Given the description of an element on the screen output the (x, y) to click on. 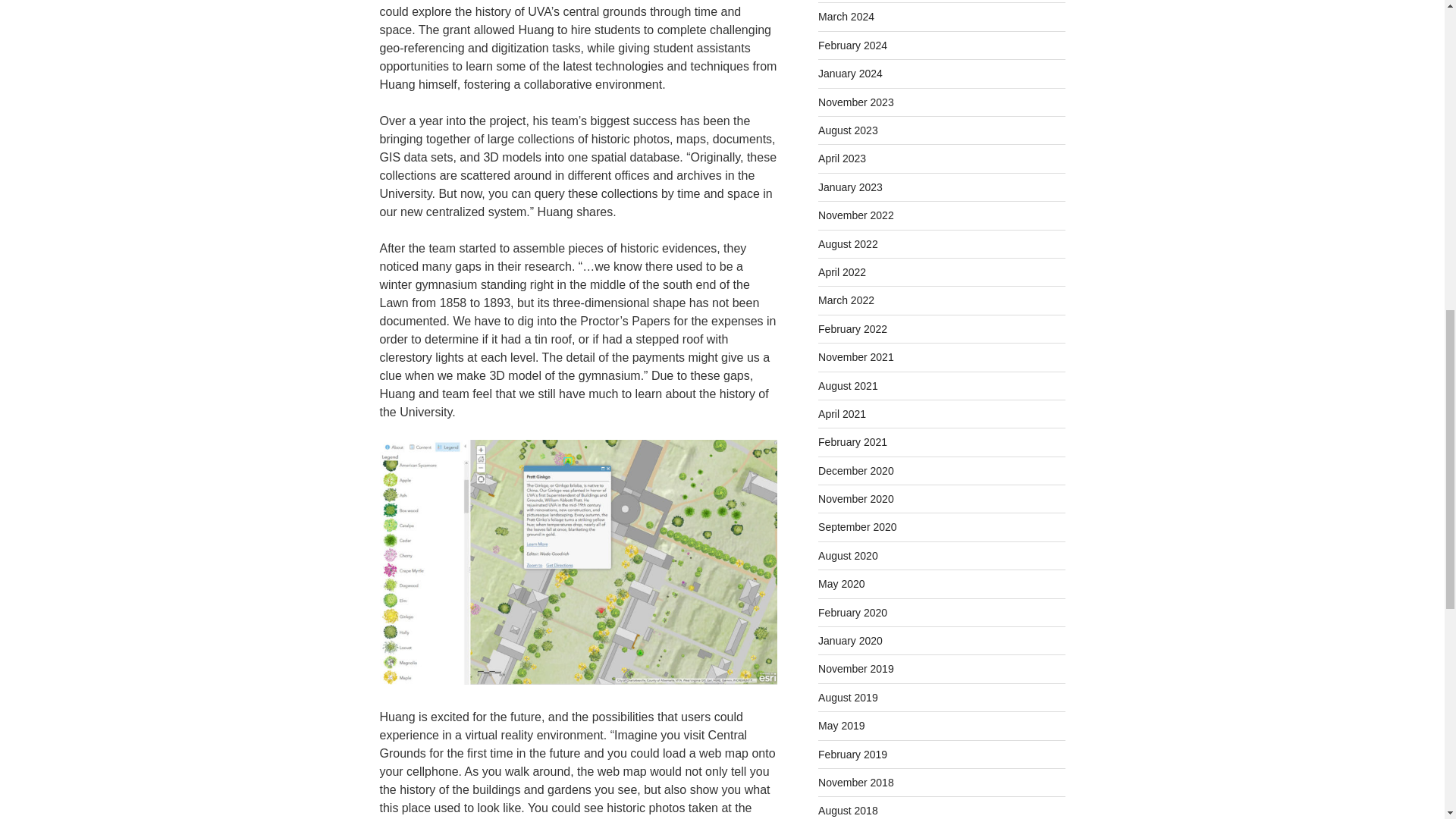
March 2024 (846, 16)
February 2024 (852, 45)
January 2024 (850, 73)
